Given the description of an element on the screen output the (x, y) to click on. 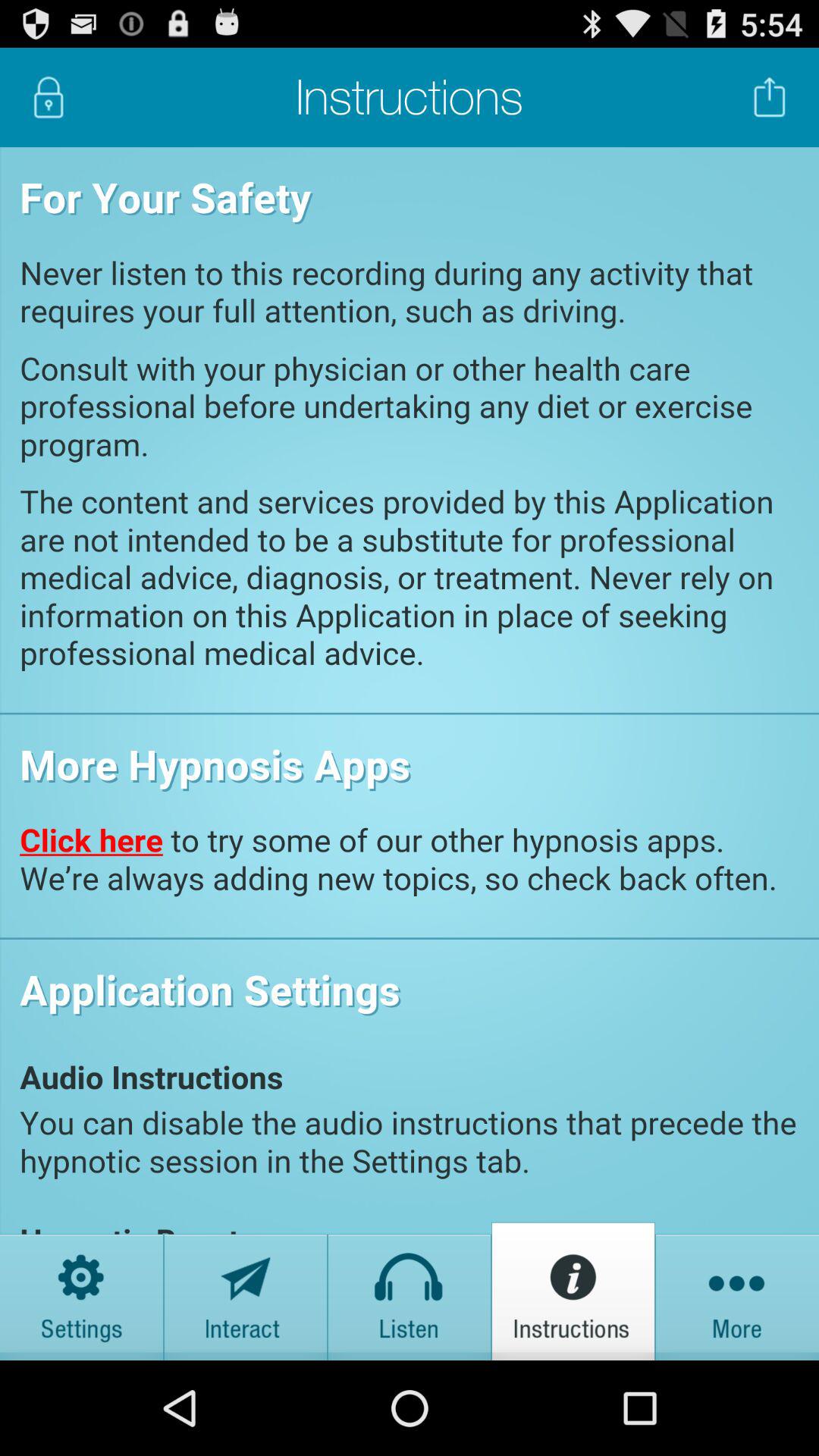
click the lock button (49, 97)
